Given the description of an element on the screen output the (x, y) to click on. 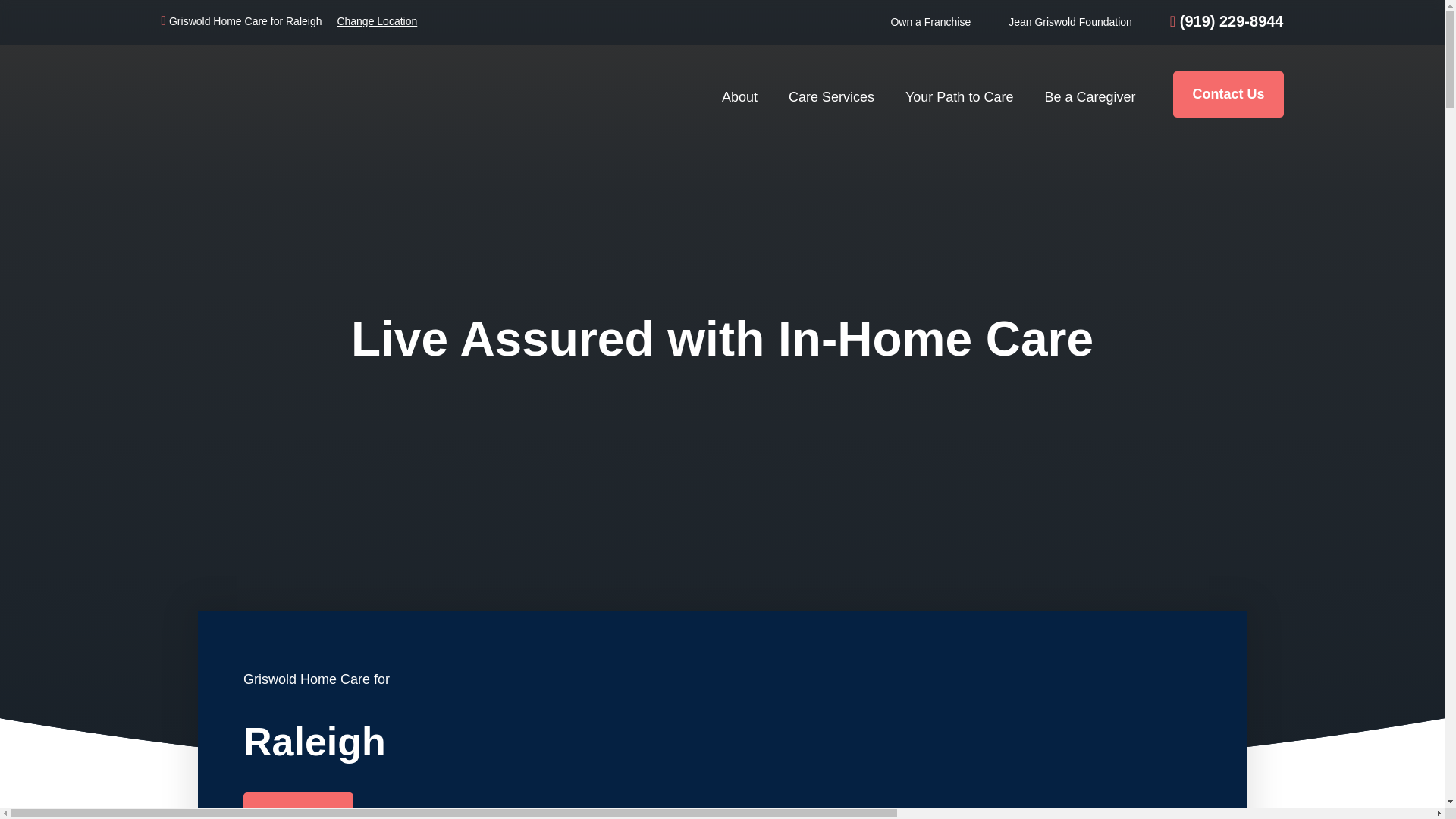
Contact Us (298, 805)
Your Path to Care (962, 93)
About (743, 93)
Care Services (835, 93)
Change Location (376, 21)
Jean Griswold Foundation (1070, 21)
Own a Franchise (930, 21)
Contact Us (1227, 94)
Be a Caregiver (1093, 93)
